Given the description of an element on the screen output the (x, y) to click on. 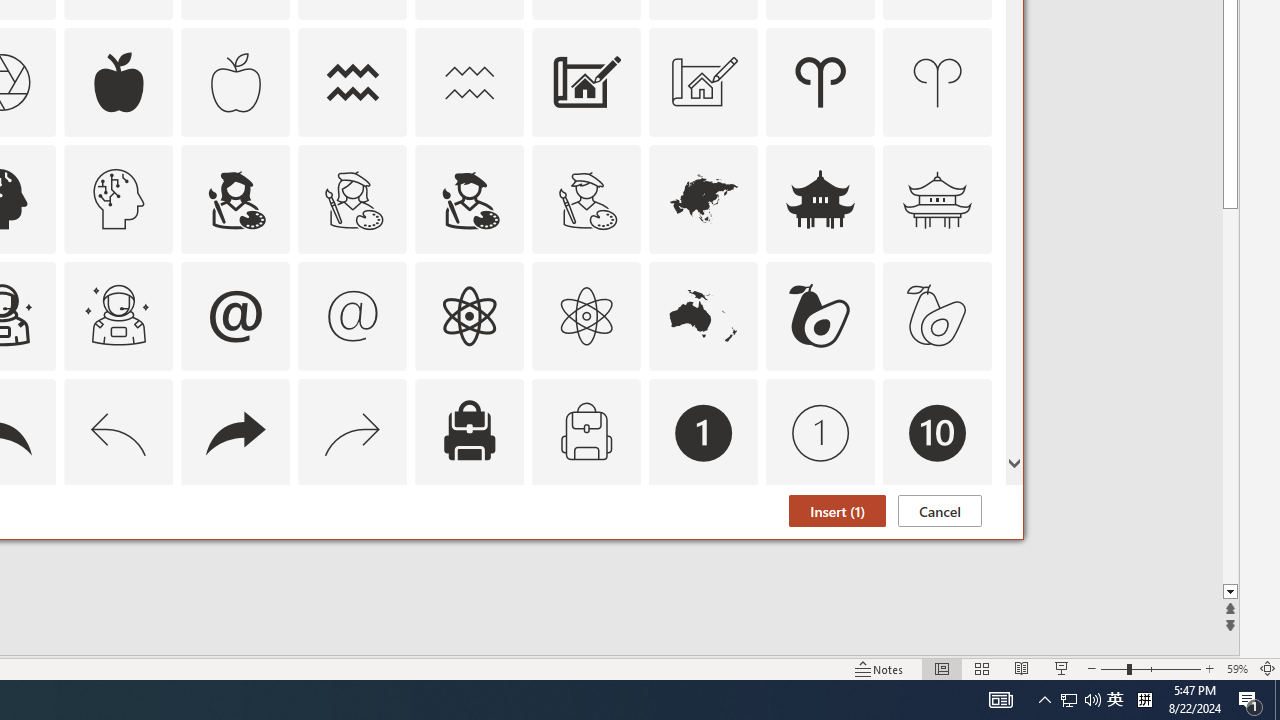
AutomationID: Icons_AsianTemple_M (938, 198)
AutomationID: Icons_ArtistMale_M (586, 198)
AutomationID: Icons_Atom_M (586, 316)
AutomationID: Icons_Aries (820, 82)
Zoom 59% (1236, 668)
AutomationID: Icons_Badge9_M (938, 550)
